Given the description of an element on the screen output the (x, y) to click on. 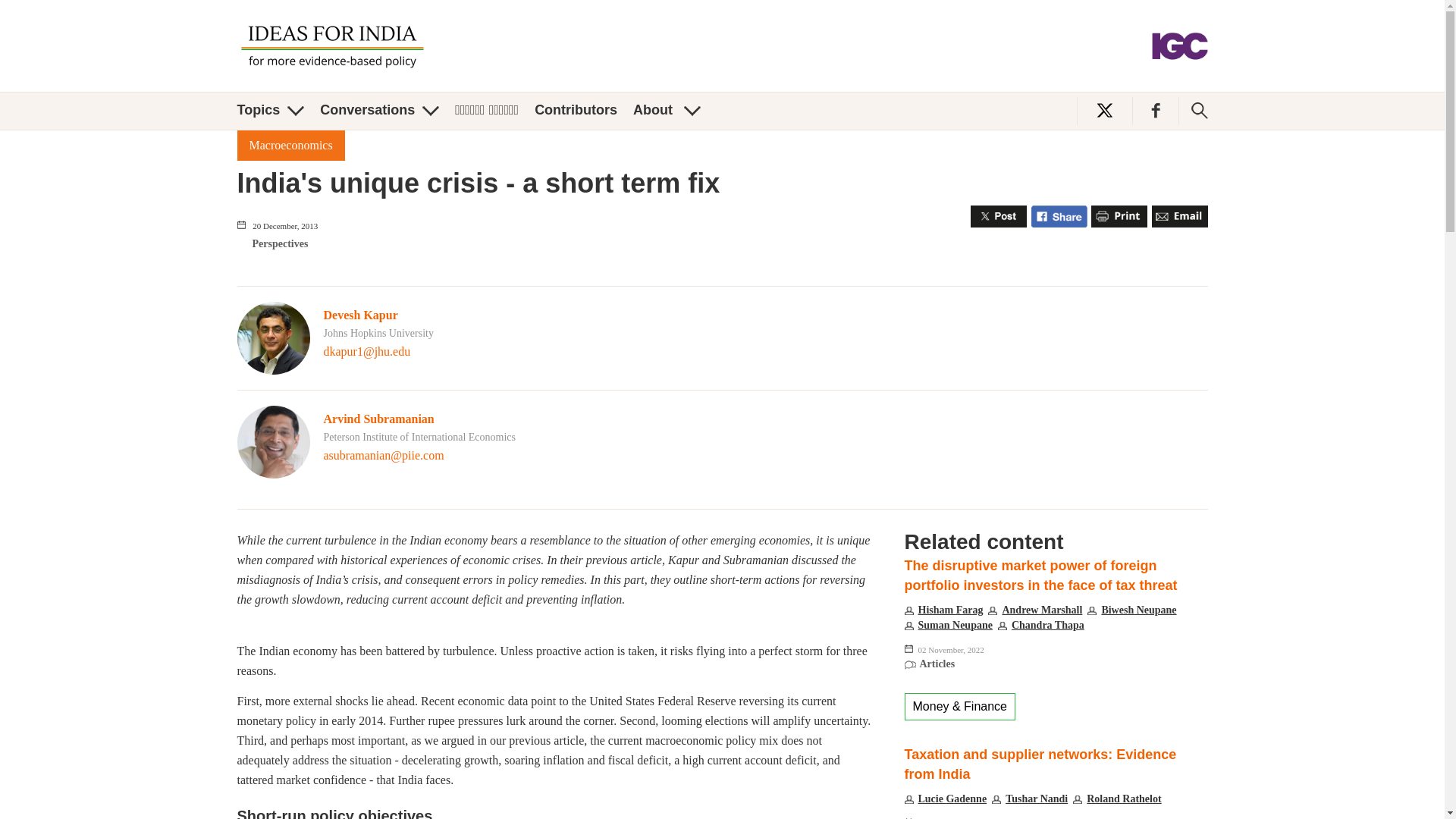
About (666, 109)
Arvind Subramanian (378, 418)
Topics (269, 109)
Contributors (575, 109)
Devesh Kapur (360, 314)
Conversations (379, 109)
